Given the description of an element on the screen output the (x, y) to click on. 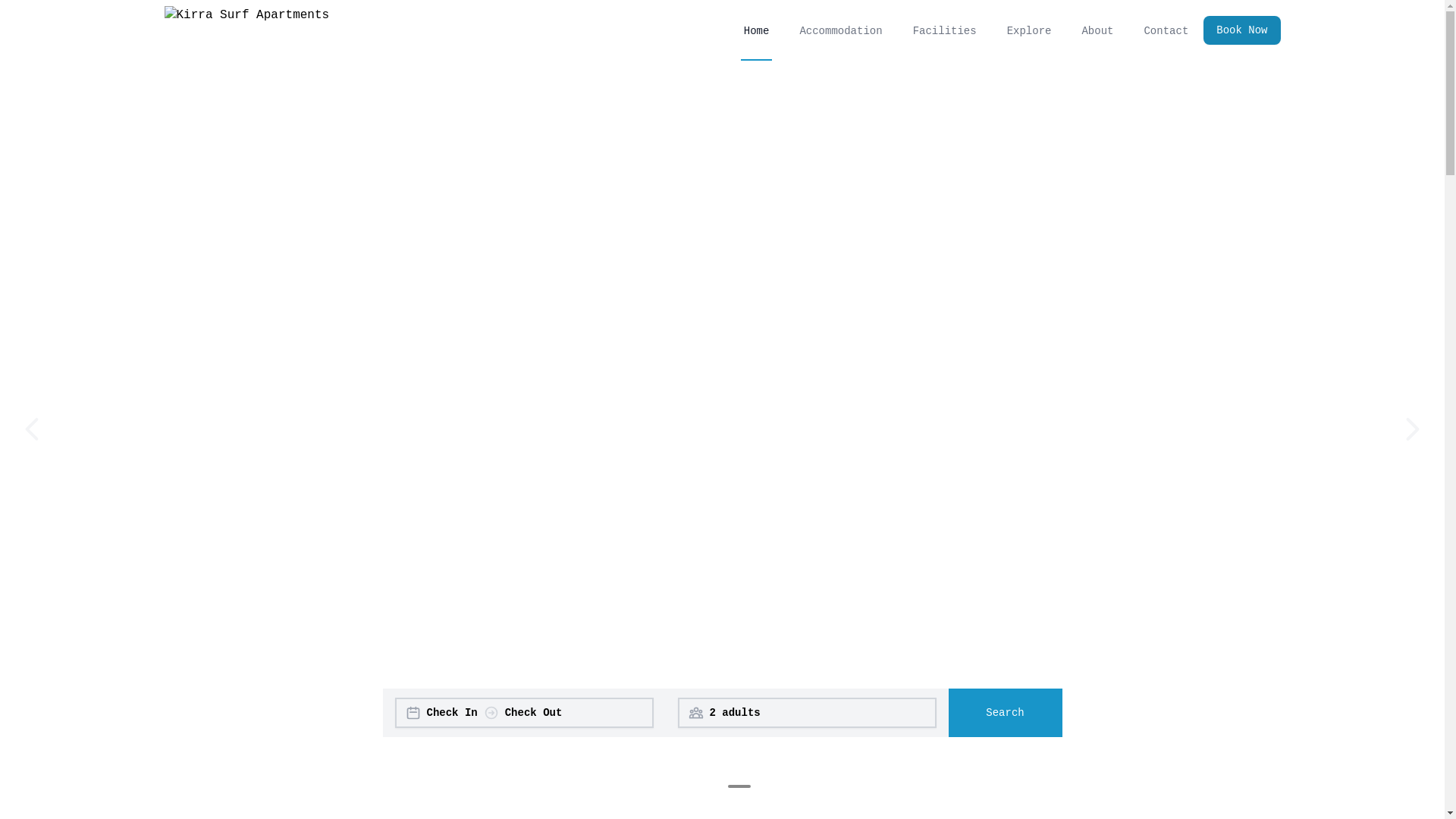
Explore Element type: text (1029, 30)
Contact Element type: text (1165, 30)
Book Now Element type: text (1235, 30)
About Element type: text (1097, 30)
Accommodation Element type: text (840, 30)
Home Element type: text (756, 30)
Search Element type: text (1004, 712)
Book Now Element type: text (1241, 29)
Facilities Element type: text (944, 30)
